Given the description of an element on the screen output the (x, y) to click on. 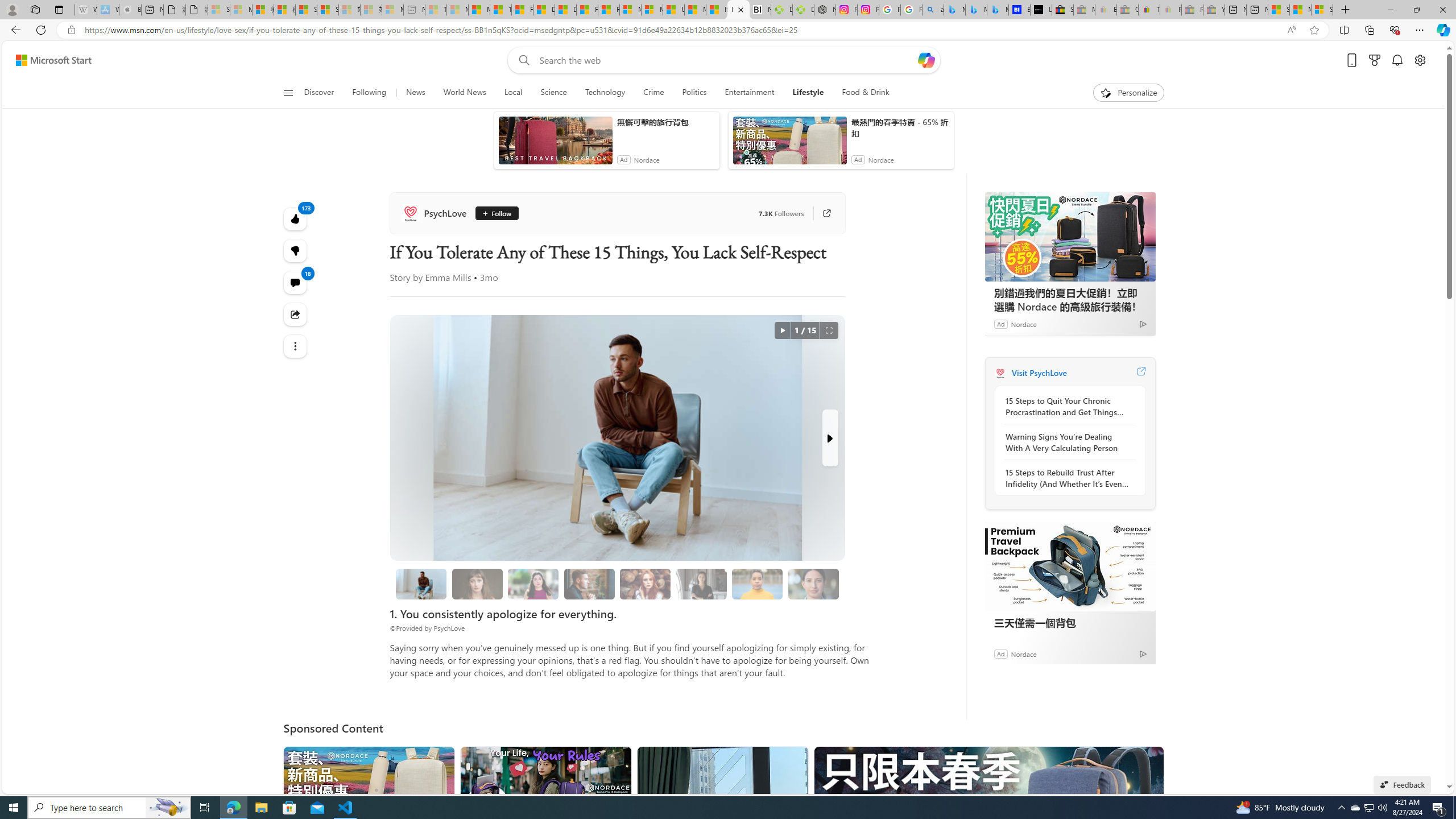
Payments Terms of Use | eBay.com - Sleeping (1170, 9)
Ad Choice (1142, 653)
Visit PsychLove website (1140, 372)
Wikipedia - Sleeping (85, 9)
Next Slide (829, 437)
Microsoft rewards (1374, 60)
Lifestyle (808, 92)
Sign in to your Microsoft account - Sleeping (218, 9)
Notifications (1397, 60)
